Given the description of an element on the screen output the (x, y) to click on. 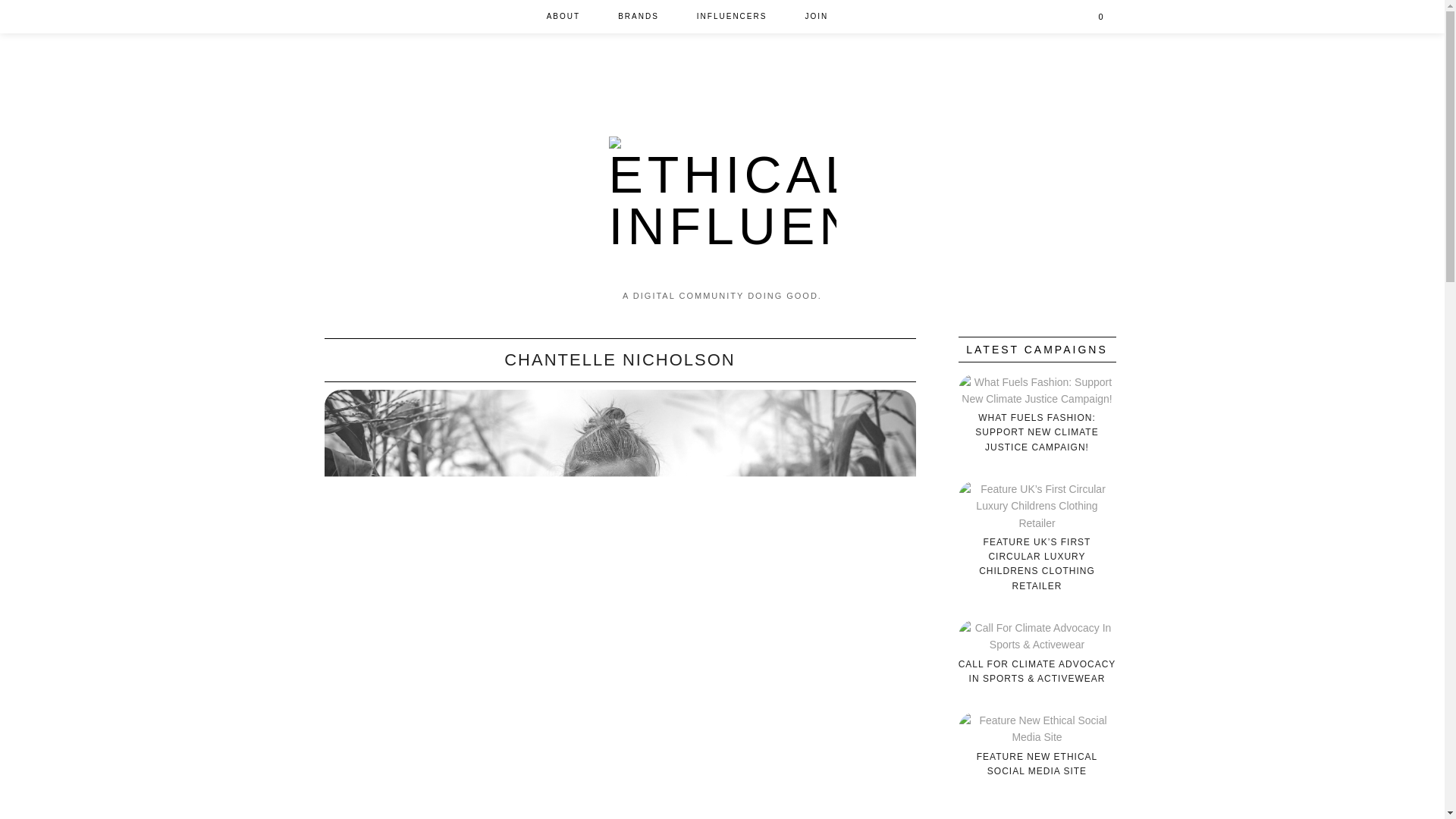
INFLUENCERS (732, 16)
WHAT FUELS FASHION: SUPPORT NEW CLIMATE JUSTICE CAMPAIGN! (1037, 433)
ABOUT (562, 16)
JOIN (816, 16)
BRANDS (638, 16)
